Given the description of an element on the screen output the (x, y) to click on. 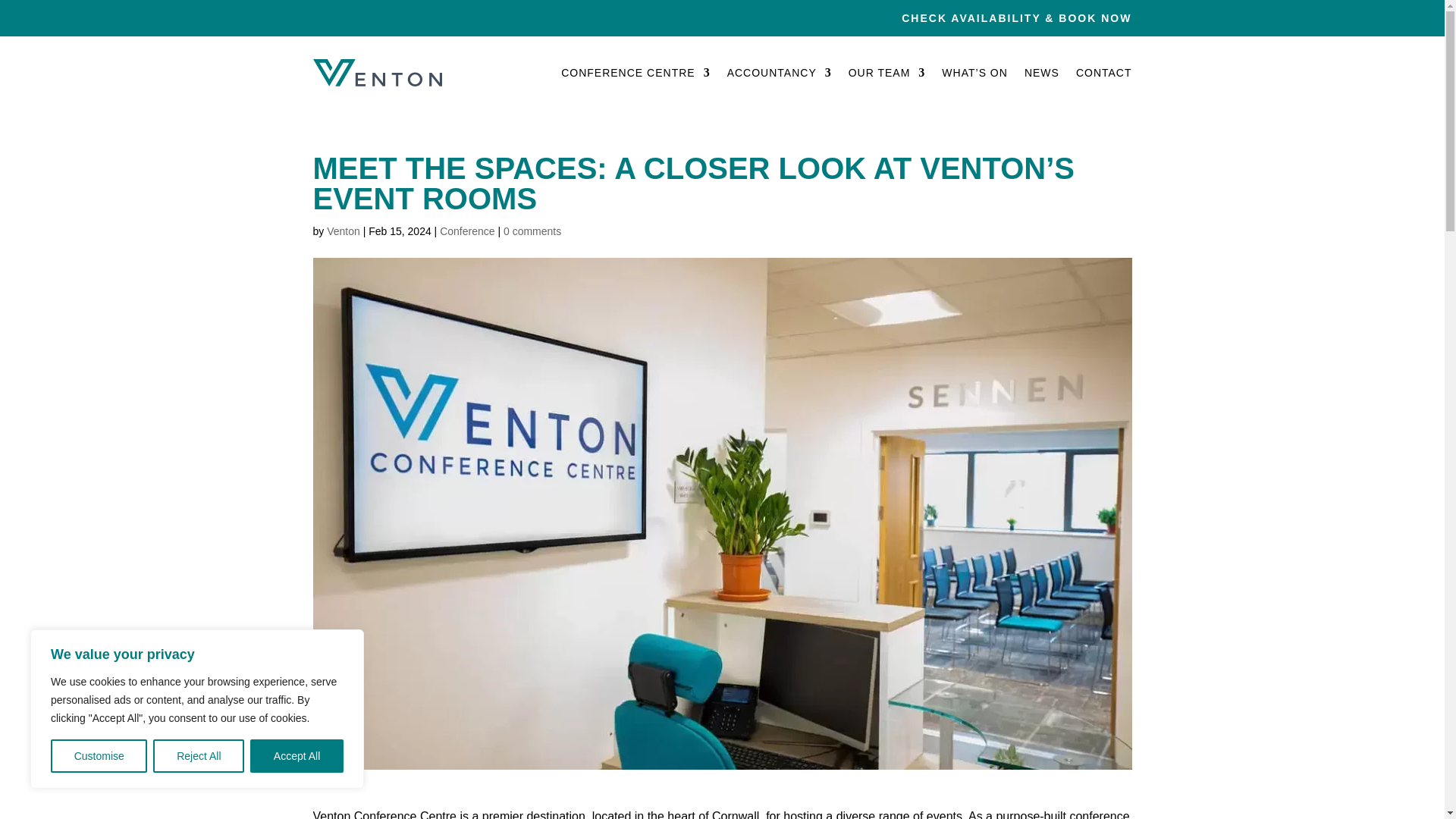
Reject All (198, 756)
ACCOUNTANCY (778, 72)
Posts by Venton (342, 231)
Accept All (296, 756)
OUR TEAM (887, 72)
Customise (98, 756)
CONFERENCE CENTRE (635, 72)
CONTACT (1103, 72)
